Given the description of an element on the screen output the (x, y) to click on. 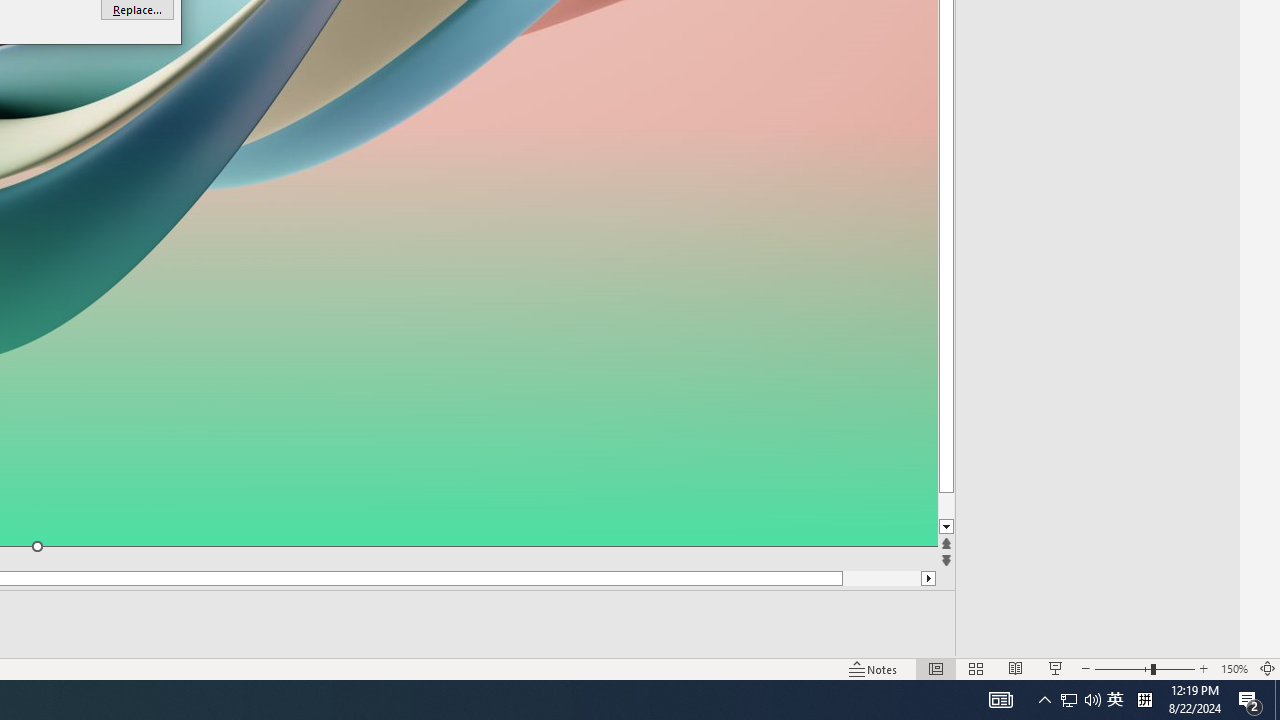
Zoom 150% (1234, 668)
Action Center, 2 new notifications (1250, 699)
